Given the description of an element on the screen output the (x, y) to click on. 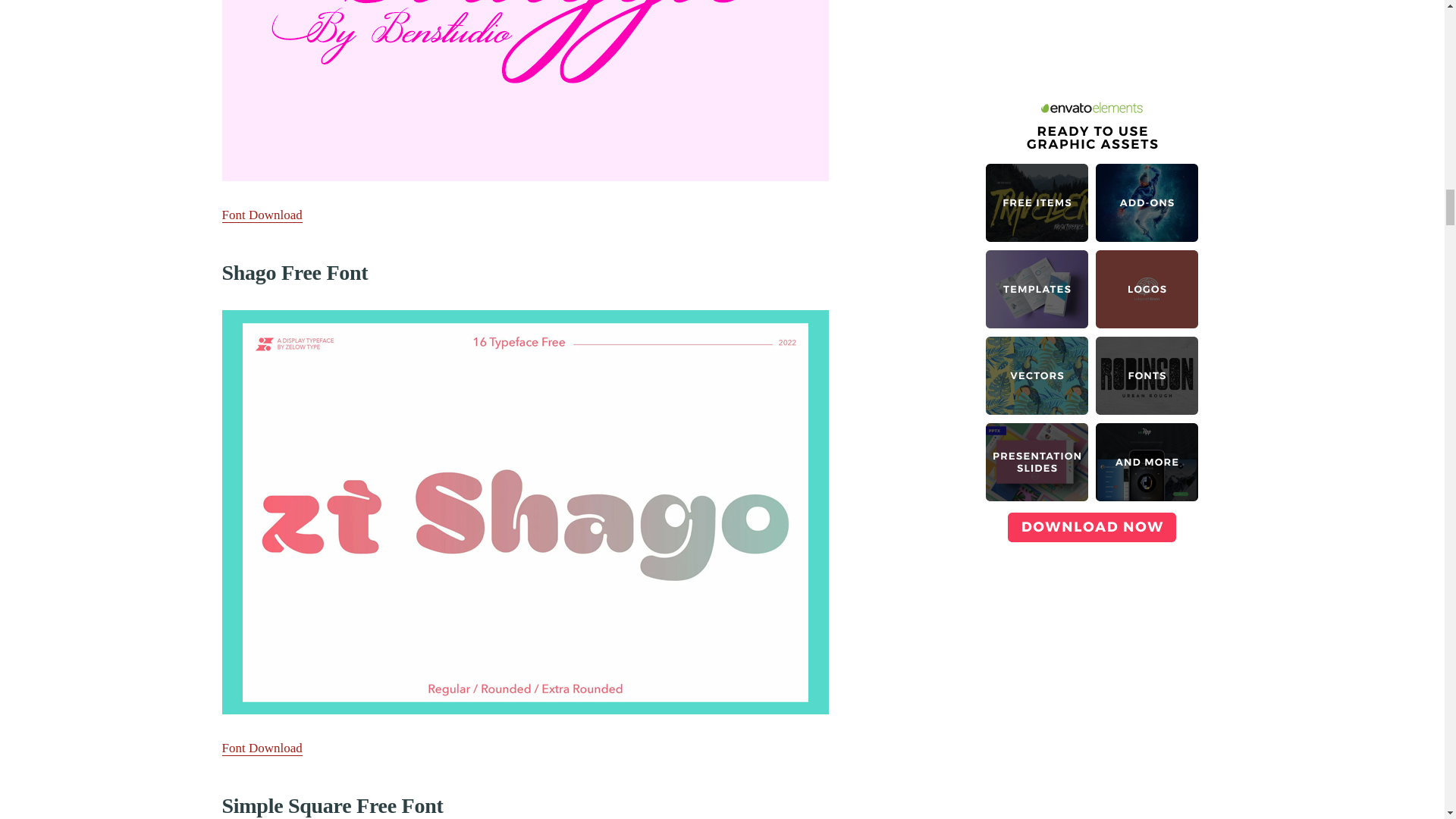
Struggle Free Font (524, 90)
